Given the description of an element on the screen output the (x, y) to click on. 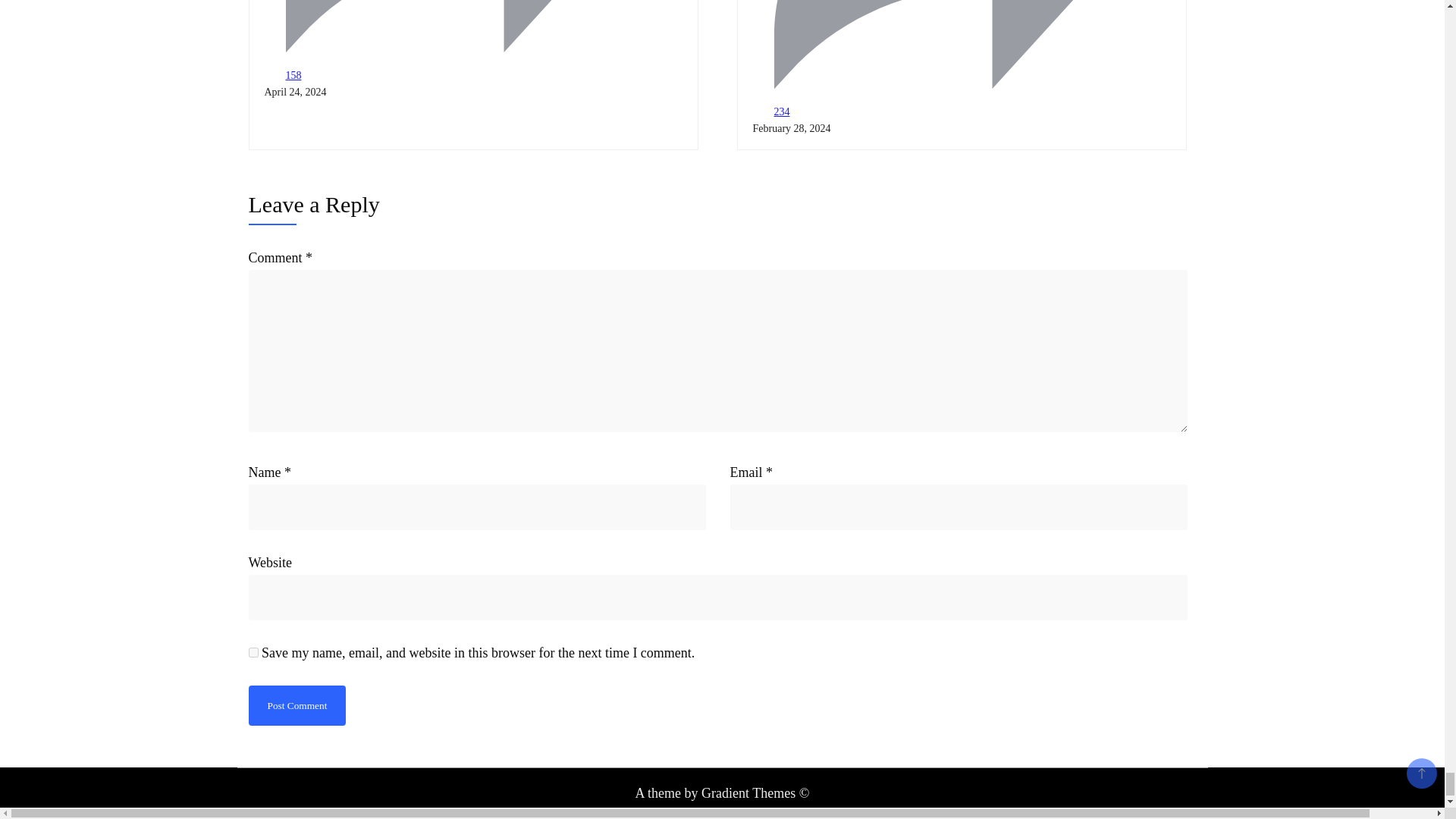
Post Comment (297, 705)
yes (253, 652)
